Given the description of an element on the screen output the (x, y) to click on. 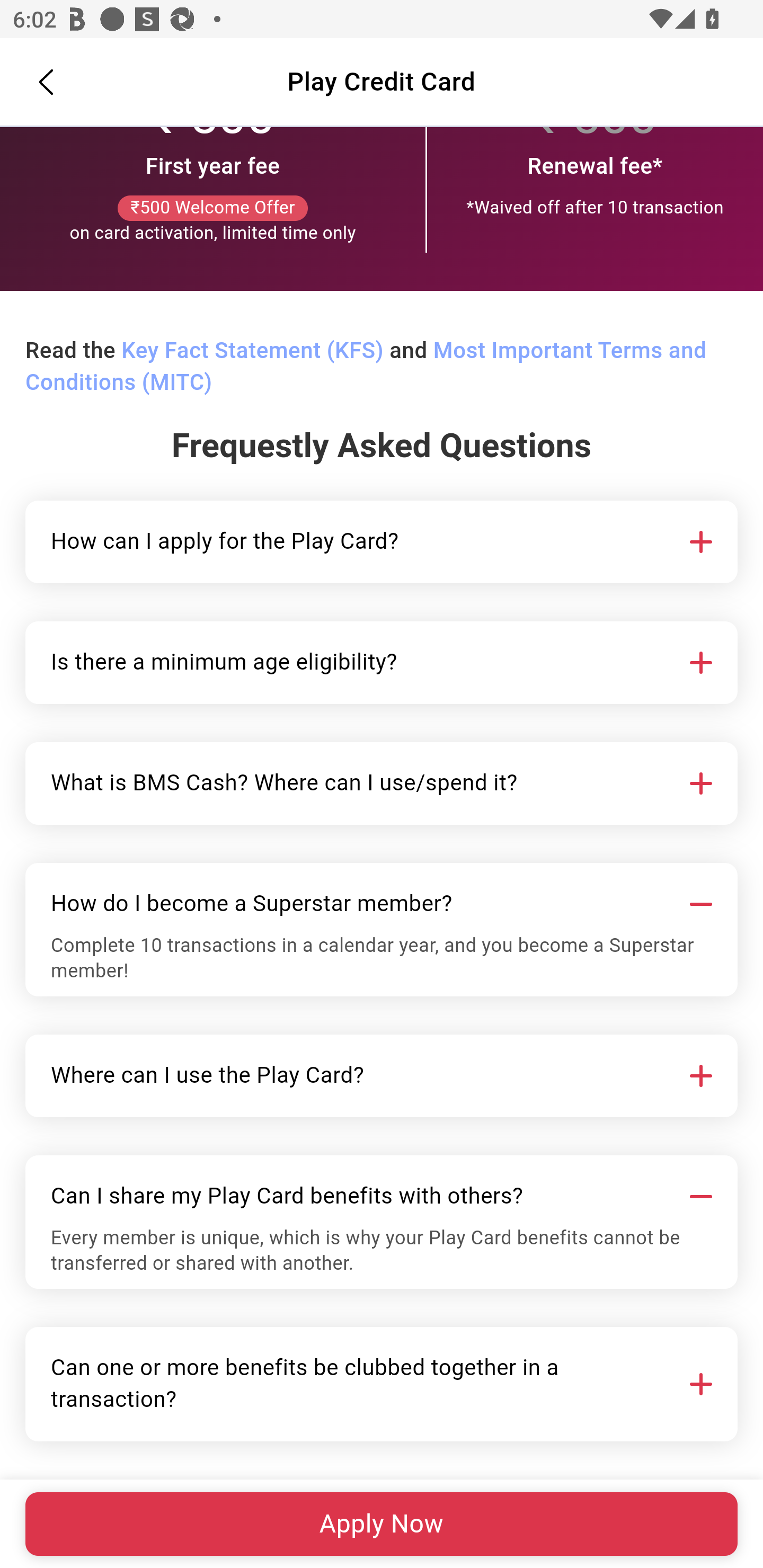
Most Important Terms and Conditions (MITC) (366, 367)
Key Fact Statement (KFS) (252, 351)
